Given the description of an element on the screen output the (x, y) to click on. 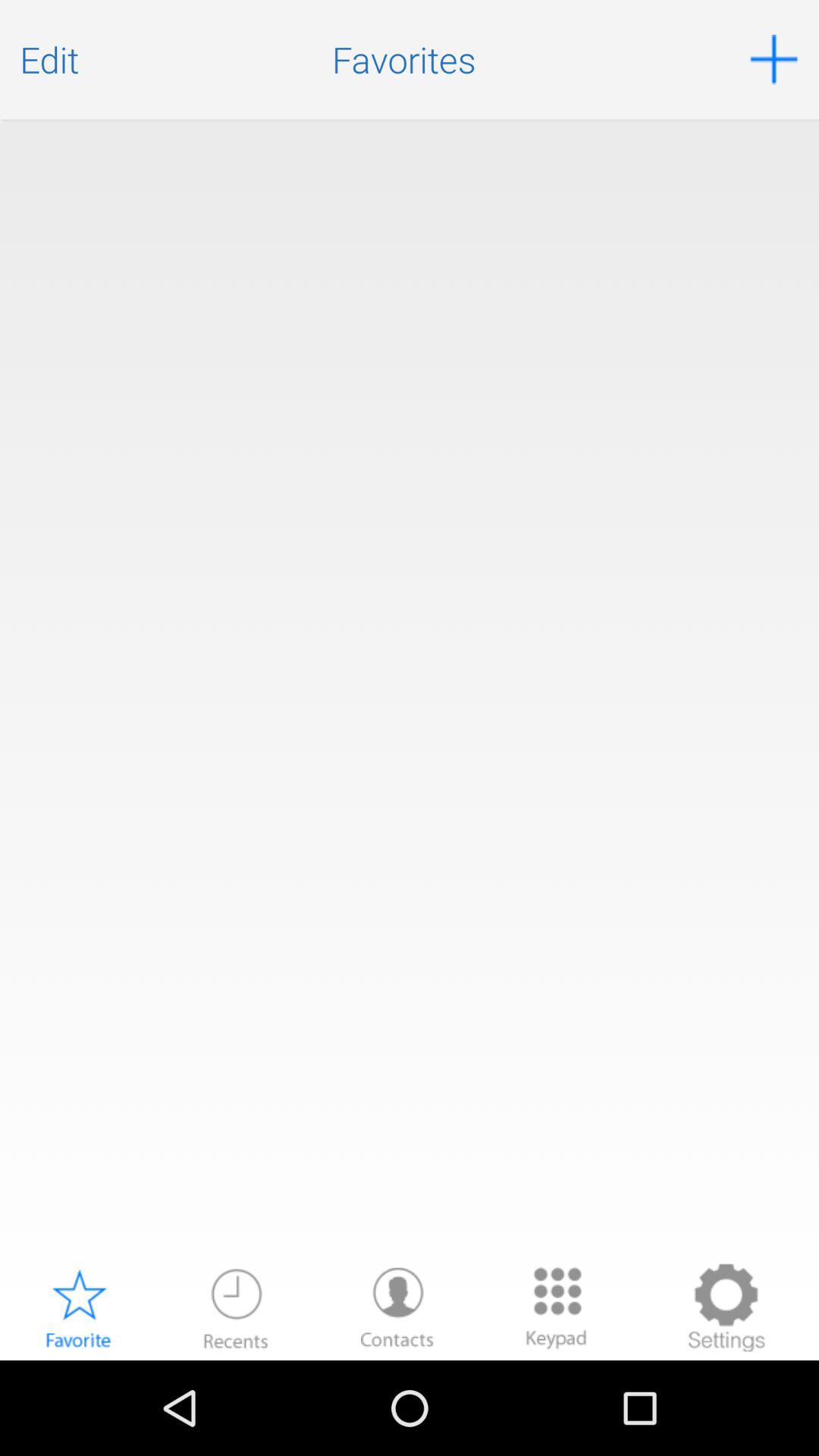
launch the item next to favorites (774, 59)
